Given the description of an element on the screen output the (x, y) to click on. 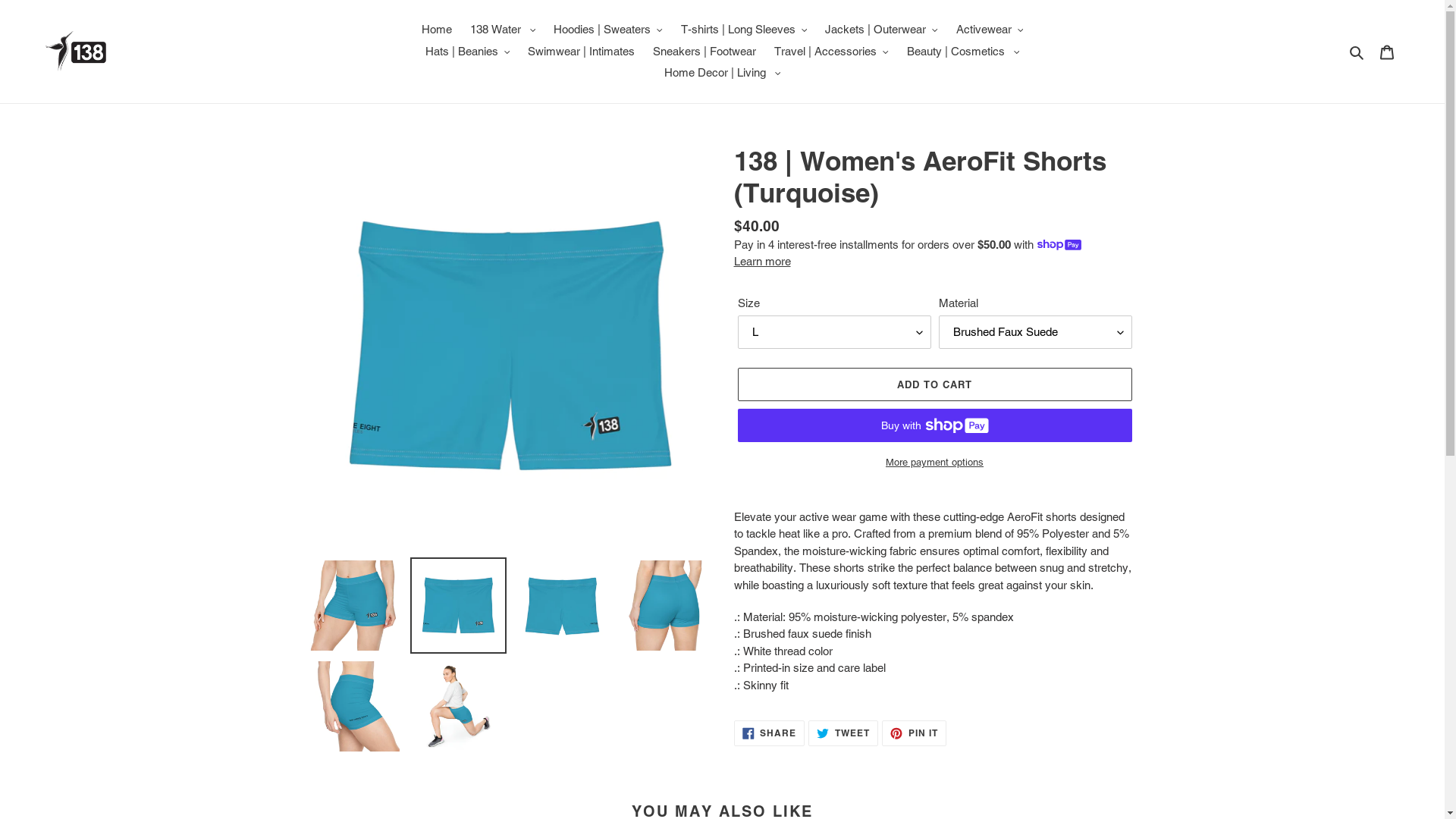
SHARE
SHARE ON FACEBOOK Element type: text (769, 733)
Home Decor | Living Element type: text (722, 73)
Hats | Beanies Element type: text (467, 51)
Cart Element type: text (1386, 50)
Jackets | Outerwear Element type: text (881, 29)
Sneakers | Footwear Element type: text (704, 51)
TWEET
TWEET ON TWITTER Element type: text (843, 733)
Beauty | Cosmetics Element type: text (963, 51)
More payment options Element type: text (934, 462)
Home Element type: text (436, 29)
ADD TO CART Element type: text (934, 384)
Hoodies | Sweaters Element type: text (608, 29)
Activewear Element type: text (989, 29)
Swimwear | Intimates Element type: text (581, 51)
T-shirts | Long Sleeves Element type: text (744, 29)
Search Element type: text (1357, 51)
138 Water Element type: text (502, 29)
Travel | Accessories Element type: text (831, 51)
PIN IT
PIN ON PINTEREST Element type: text (913, 733)
